Given the description of an element on the screen output the (x, y) to click on. 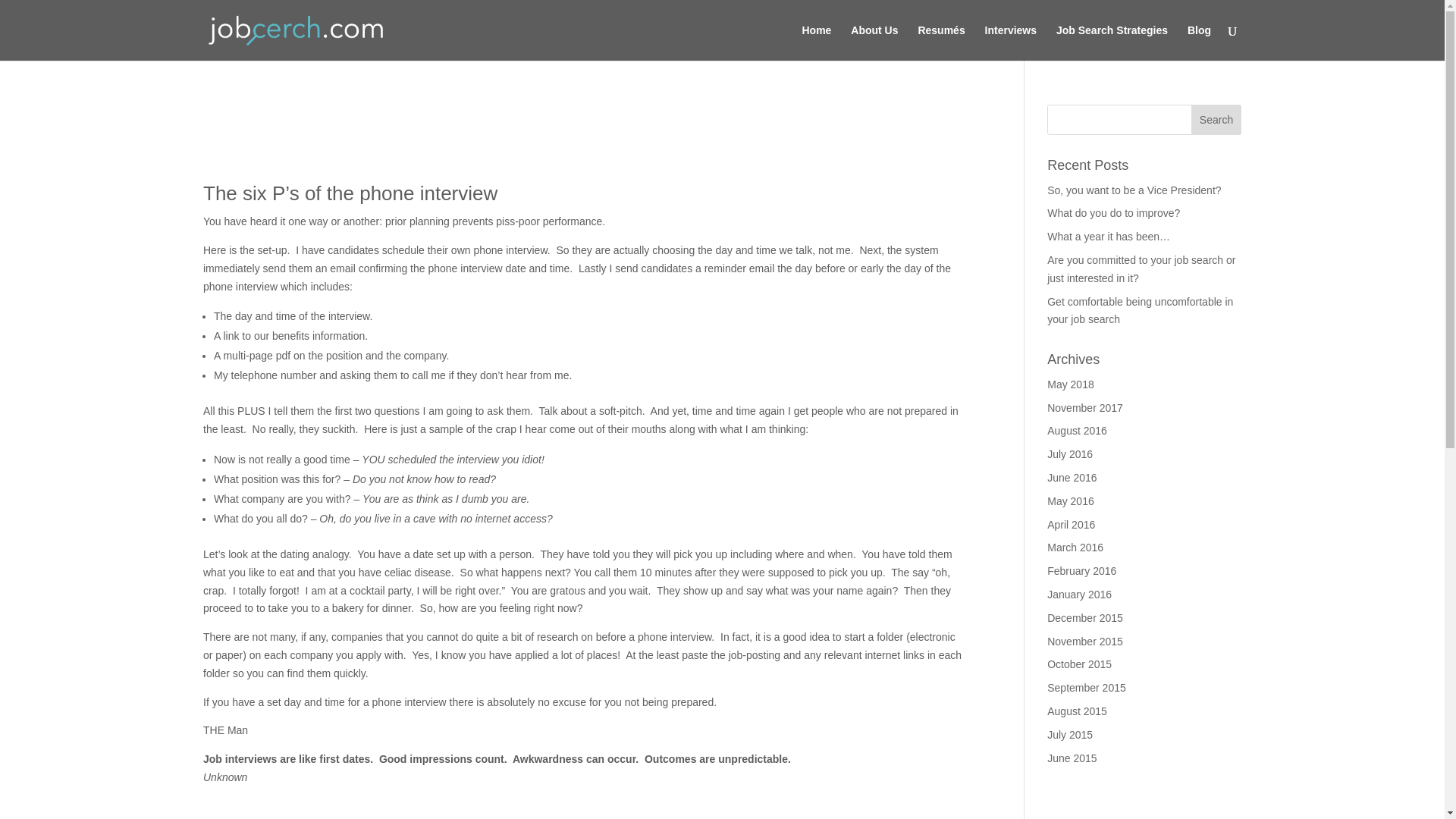
Job Search Strategies (1112, 42)
November 2017 (1084, 408)
February 2016 (1081, 571)
Search (1216, 119)
June 2016 (1071, 477)
March 2016 (1074, 547)
July 2015 (1069, 734)
December 2015 (1084, 617)
July 2016 (1069, 453)
September 2015 (1085, 687)
Search (1216, 119)
August 2015 (1076, 711)
Interviews (1010, 42)
About Us (874, 42)
